Given the description of an element on the screen output the (x, y) to click on. 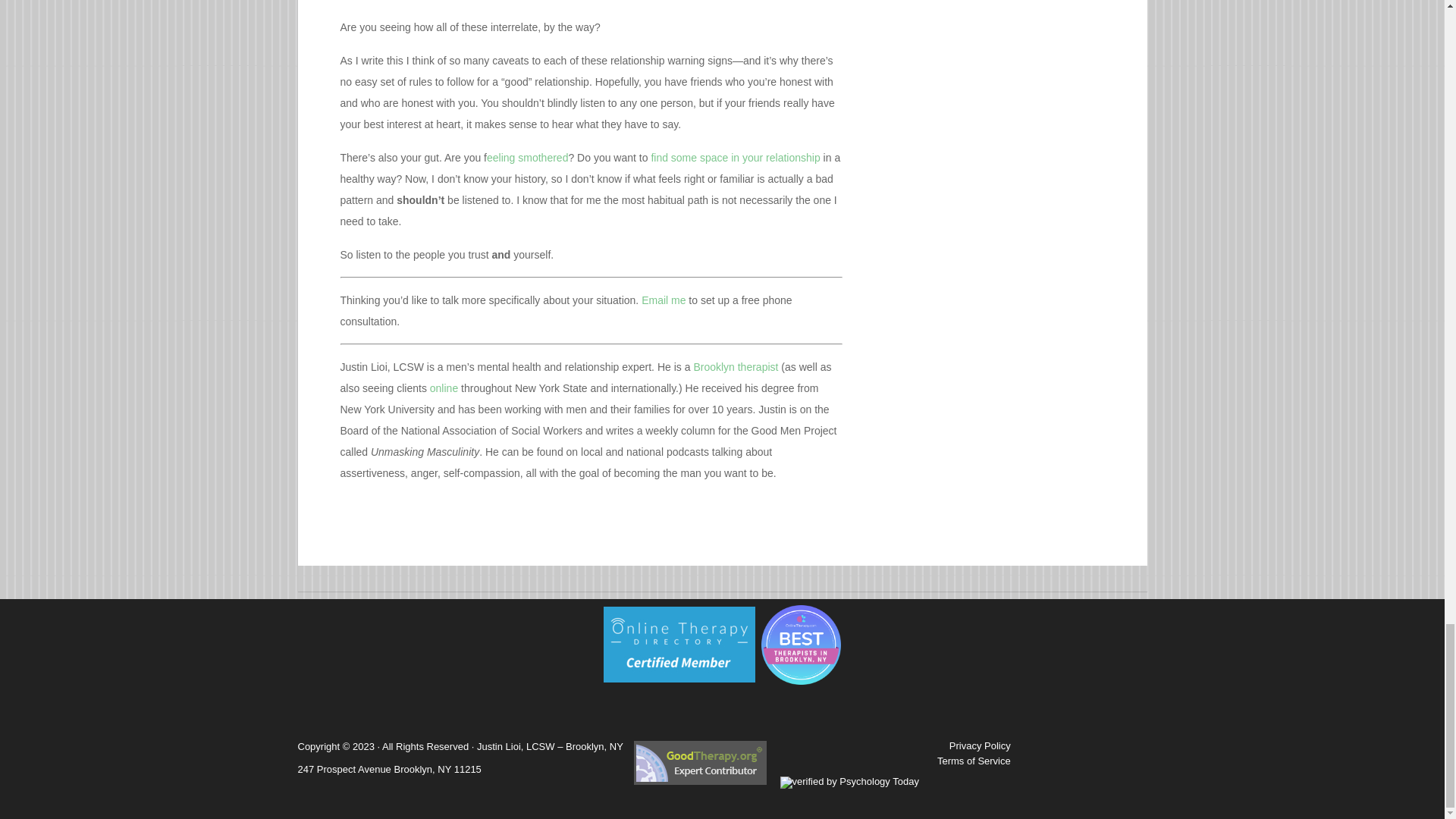
find some space in your relationship (734, 157)
Brooklyn therapist (735, 367)
online (443, 387)
Email me (662, 300)
eeling smothered (526, 157)
verified by Psychology Today (848, 781)
Terms of Service (973, 760)
Privacy Policy (979, 745)
